Given the description of an element on the screen output the (x, y) to click on. 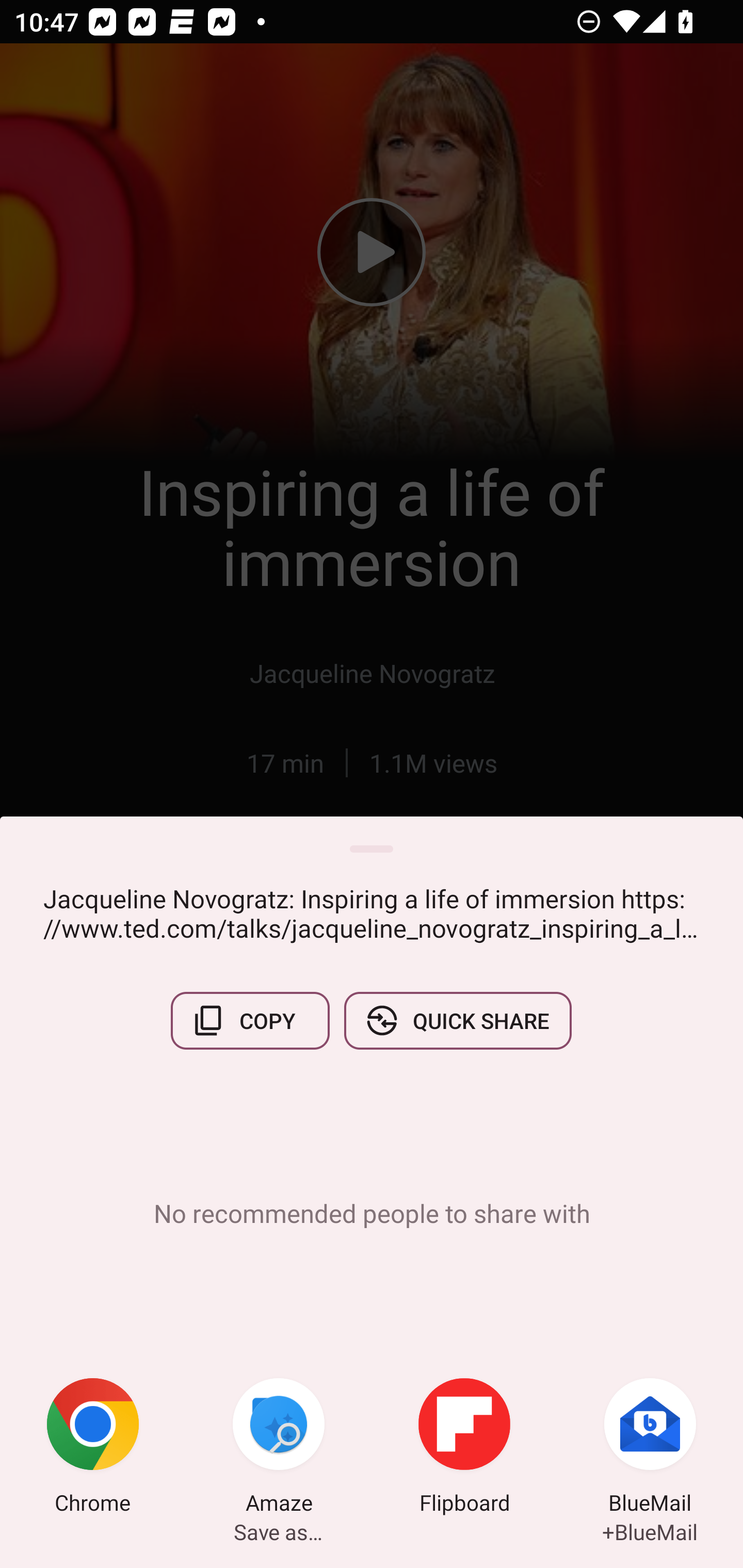
COPY (249, 1020)
QUICK SHARE (457, 1020)
Chrome (92, 1448)
Amaze Save as… (278, 1448)
Flipboard (464, 1448)
BlueMail +BlueMail (650, 1448)
